Given the description of an element on the screen output the (x, y) to click on. 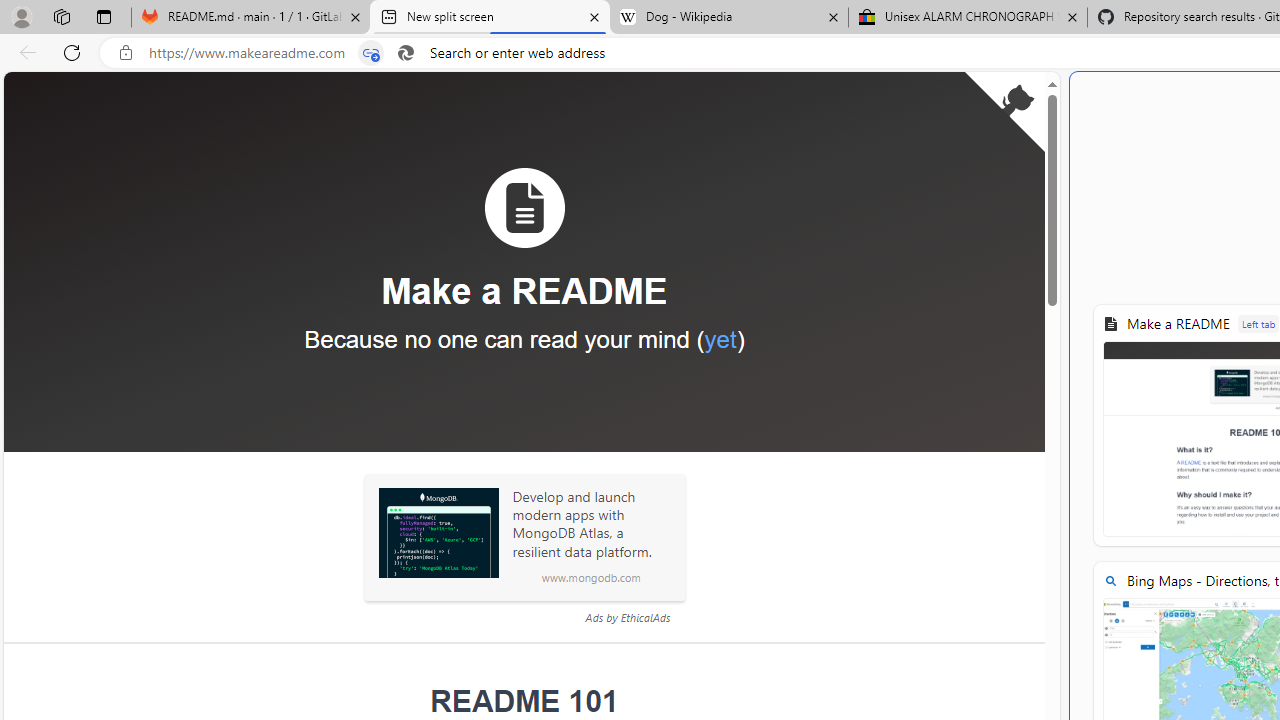
Ads by EthicalAds (627, 617)
